Given the description of an element on the screen output the (x, y) to click on. 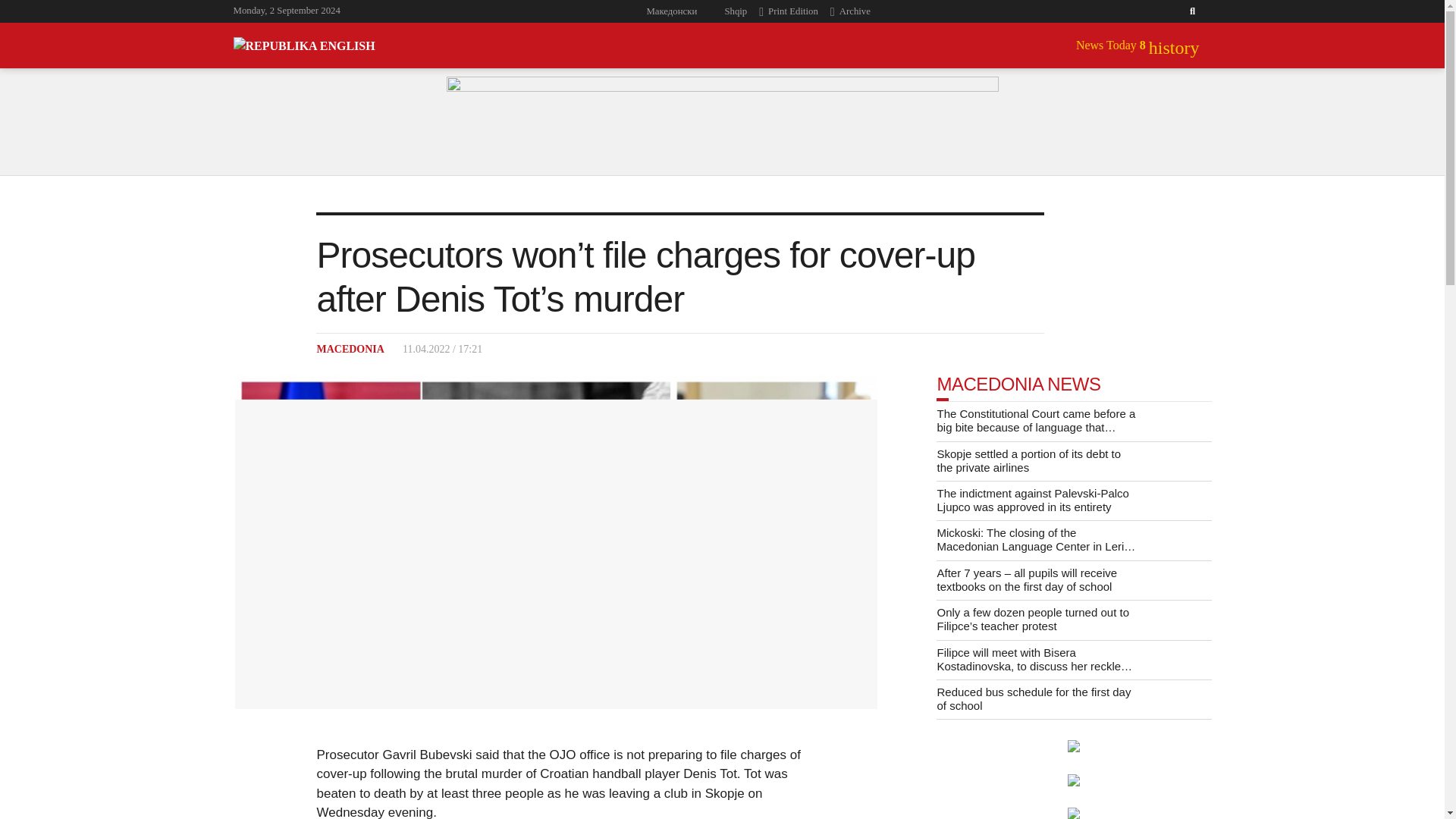
Archive (855, 11)
Shqip (733, 11)
News Today8history (1137, 44)
Print Edition (793, 11)
